Given the description of an element on the screen output the (x, y) to click on. 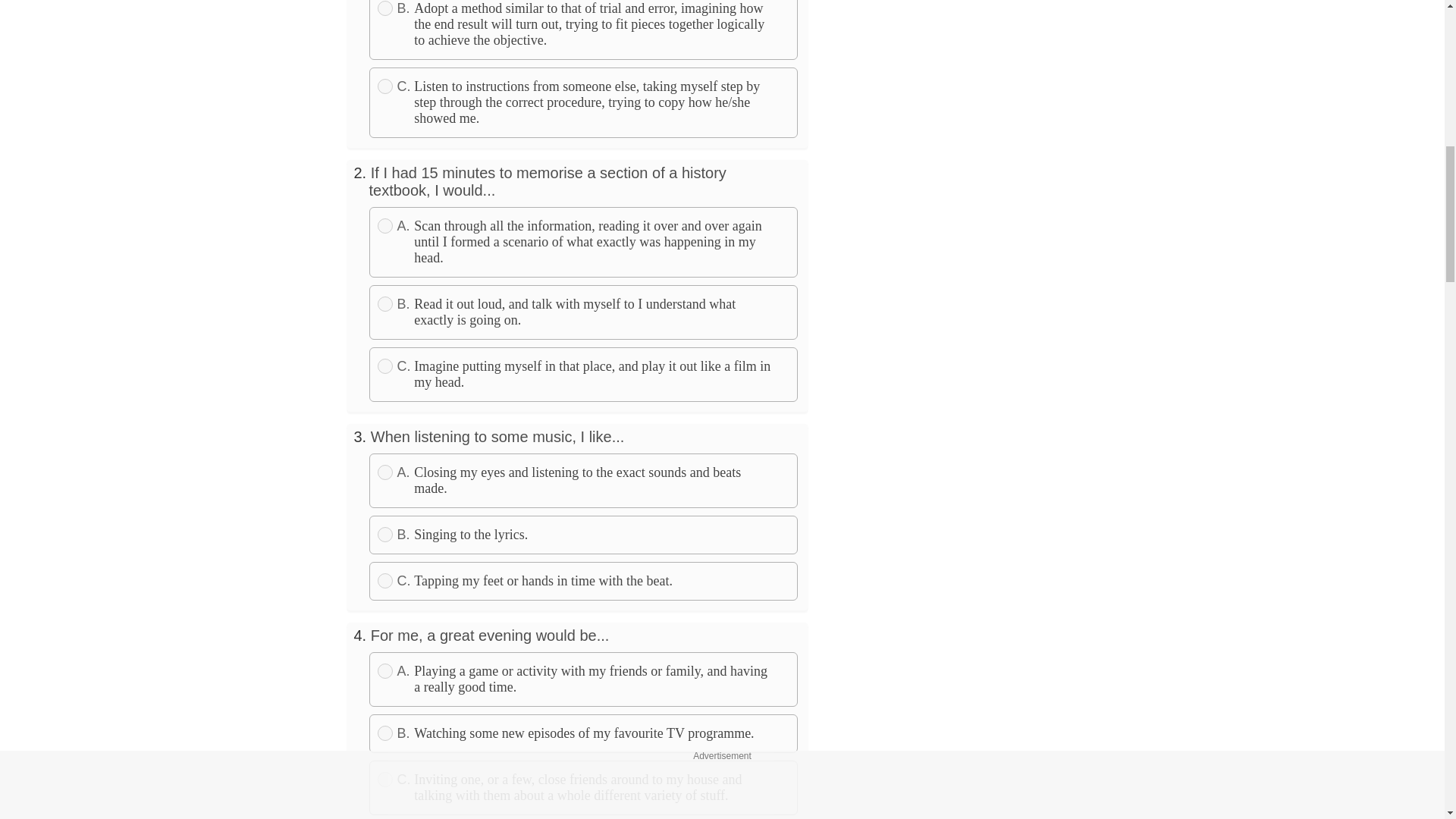
on (385, 365)
on (385, 779)
on (385, 733)
on (385, 304)
on (385, 472)
on (385, 534)
on (385, 580)
on (385, 86)
on (385, 7)
on (385, 670)
on (385, 225)
